Given the description of an element on the screen output the (x, y) to click on. 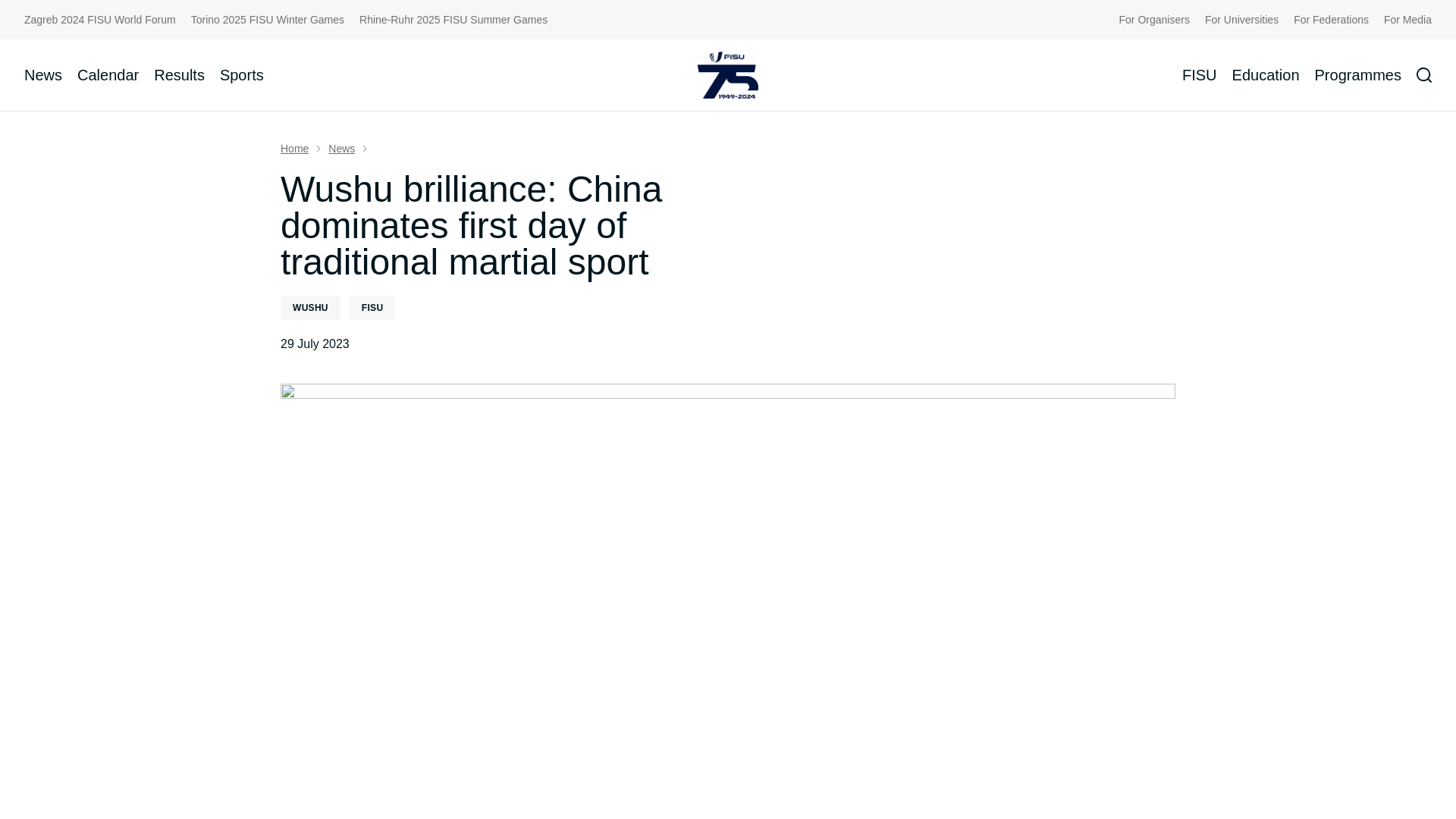
Torino 2025 FISU Winter Games (266, 19)
For Organisers (1154, 19)
For Media (1407, 19)
Programmes (1357, 74)
Education (1265, 74)
Open search (1423, 74)
Zagreb 2024 FISU World Forum (100, 19)
Results (179, 74)
Rhine-Ruhr 2025 FISU Summer Games (453, 19)
News (43, 74)
FISU (1199, 74)
Calendar (107, 74)
For Universities (1241, 19)
Sports (241, 74)
For Federations (1331, 19)
